Given the description of an element on the screen output the (x, y) to click on. 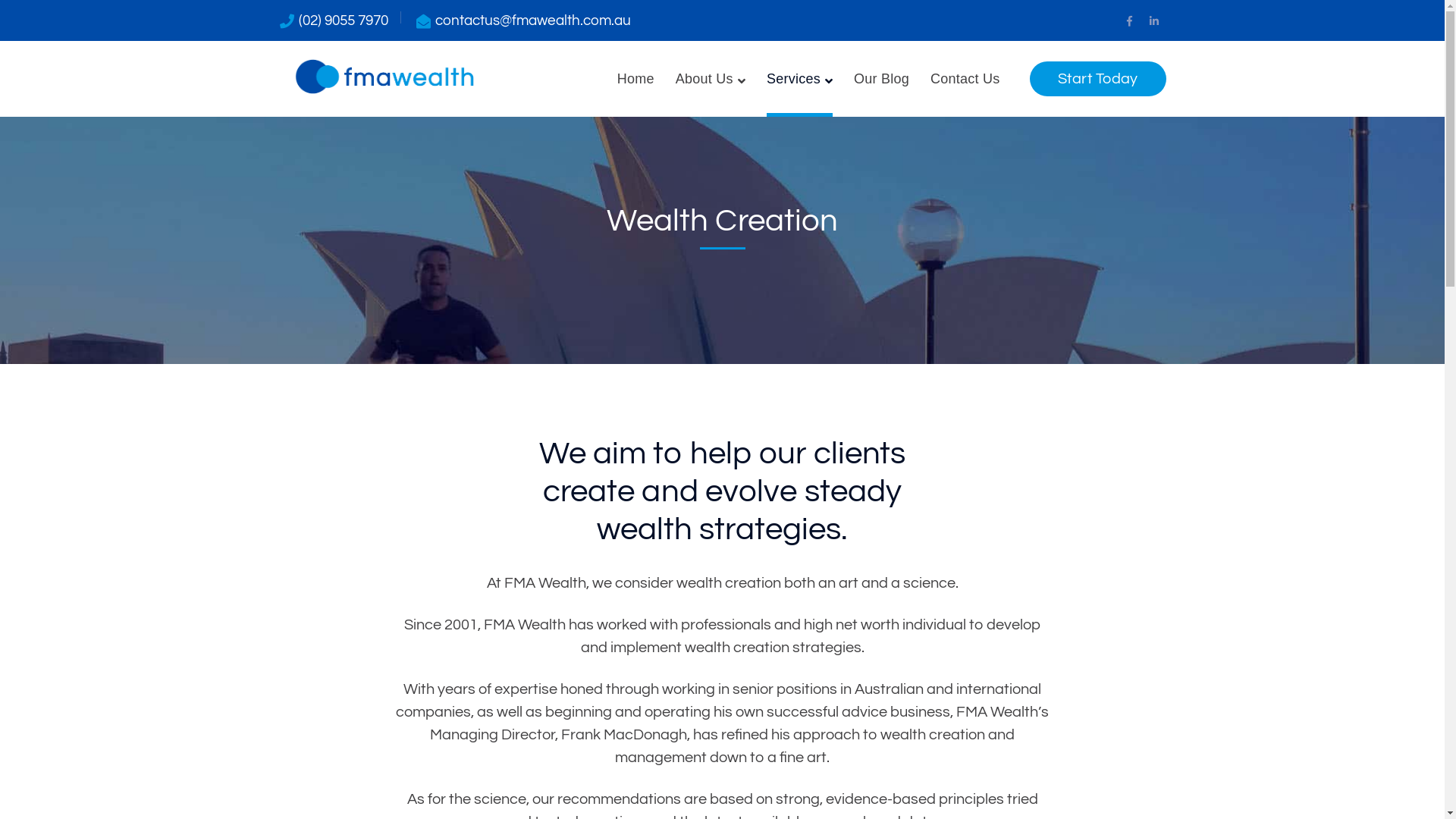
Our Blog Element type: text (881, 78)
FMA Wealth Element type: hover (384, 74)
Services Element type: text (799, 78)
Home Element type: text (635, 78)
Contact Us Element type: text (965, 78)
Facebook Profile Element type: text (1129, 21)
About Us Element type: text (710, 78)
Start Today Element type: text (1097, 78)
LinkedIn Profile Element type: text (1154, 21)
contactus@fmawealth.com.au Element type: text (532, 20)
(02) 9055 7970 Element type: text (343, 20)
